Given the description of an element on the screen output the (x, y) to click on. 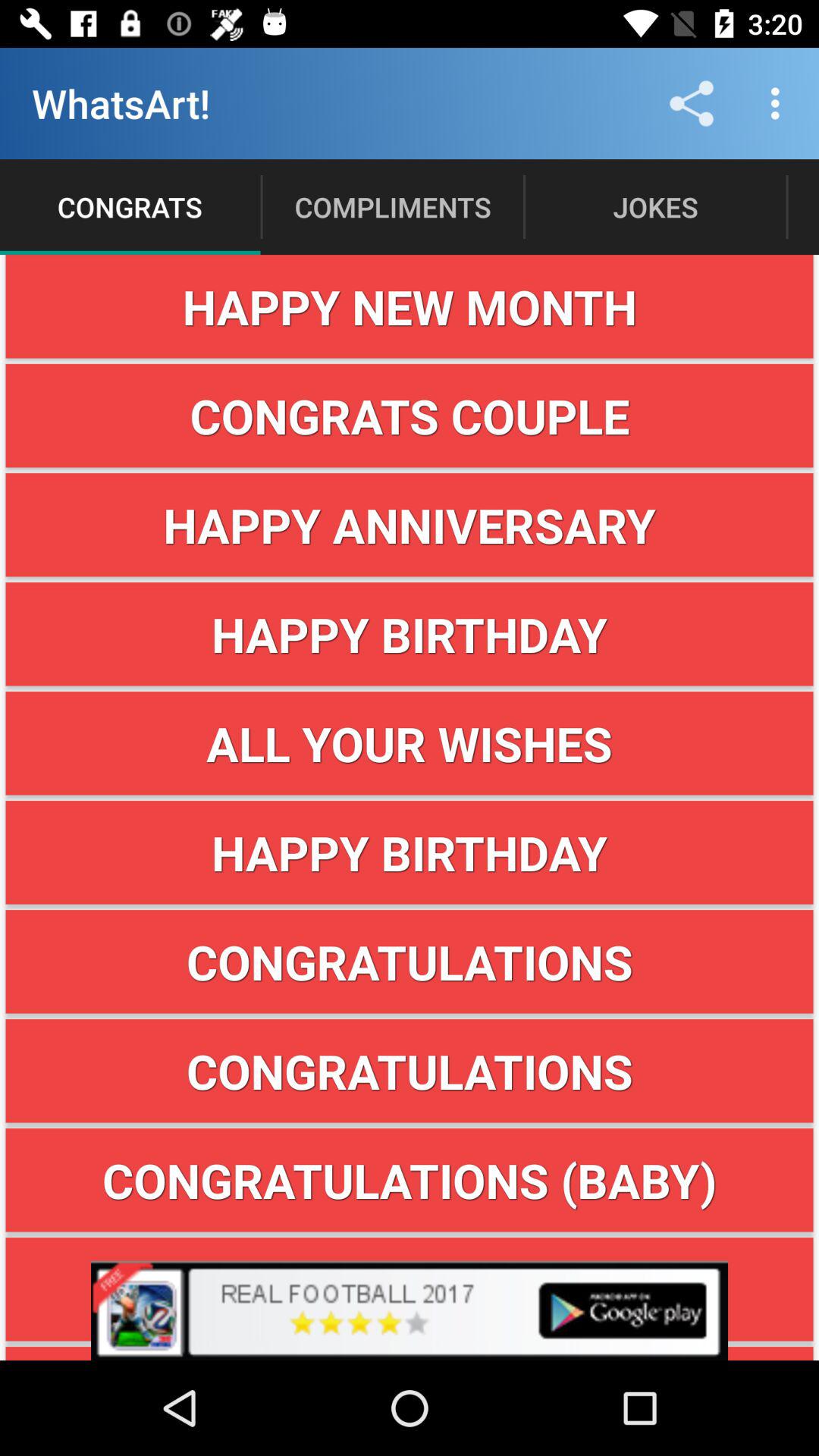
tap the item above the congrats couple (409, 306)
